Given the description of an element on the screen output the (x, y) to click on. 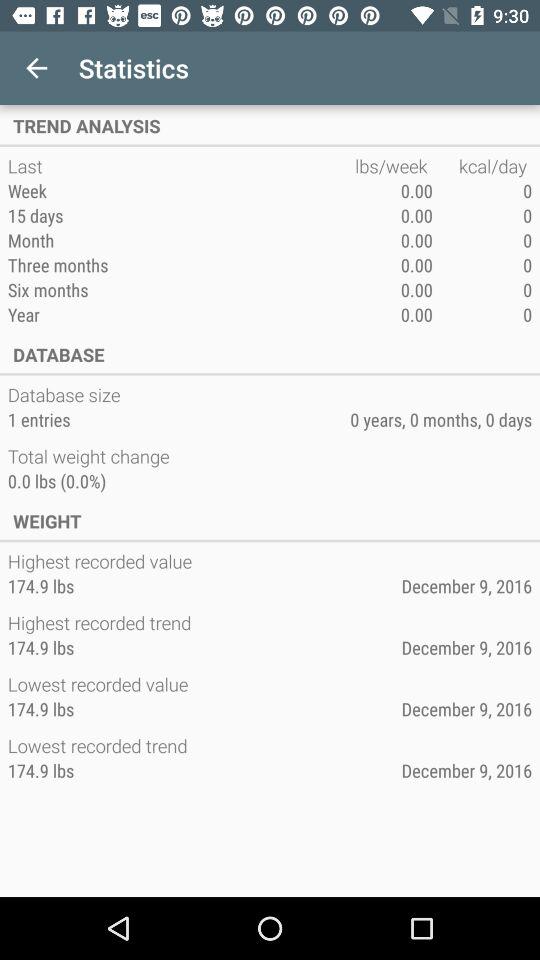
launch year (181, 314)
